Given the description of an element on the screen output the (x, y) to click on. 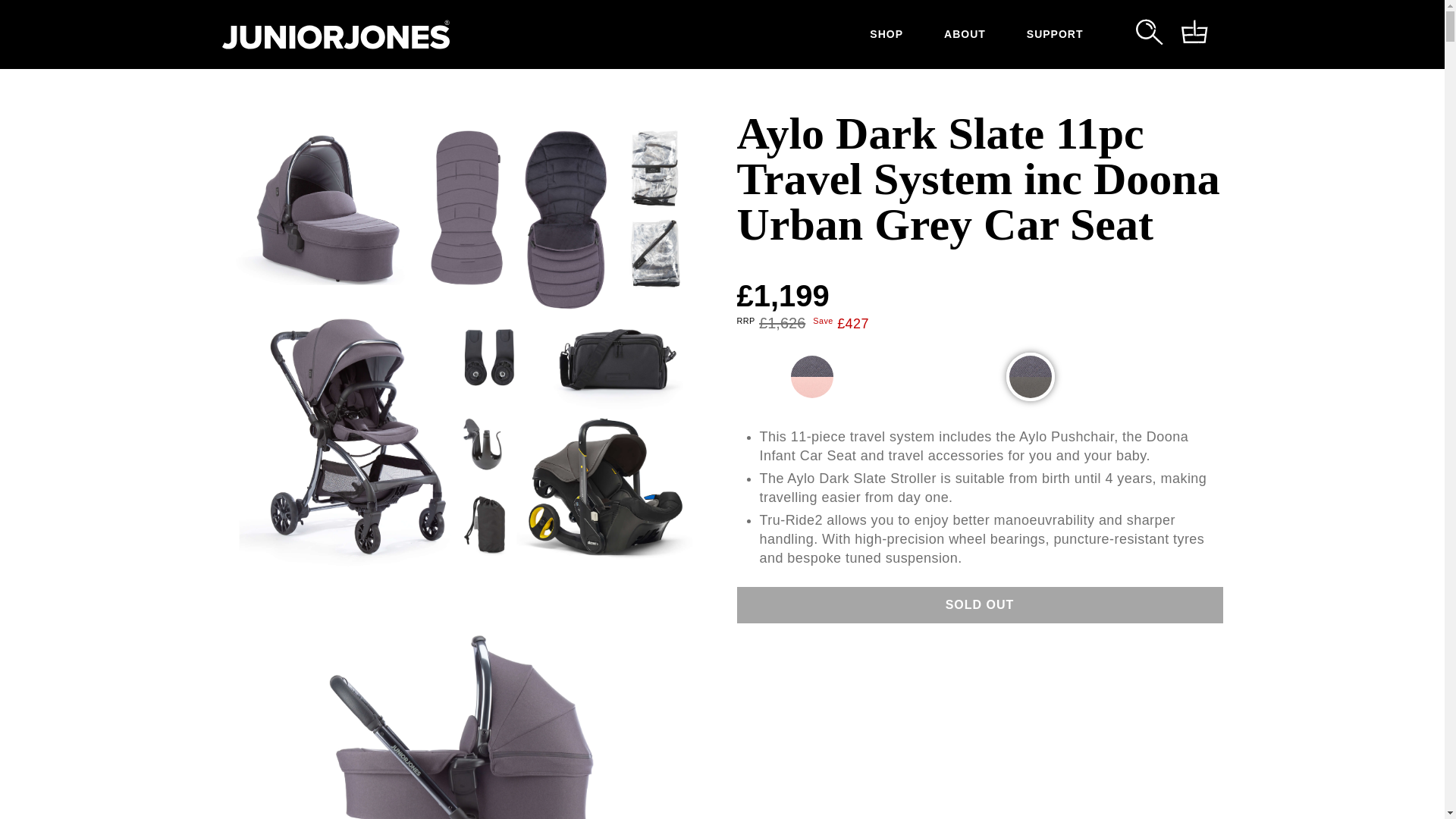
SUPPORT (1054, 34)
SHOP (886, 34)
CART (1194, 34)
ABOUT (964, 34)
